Given the description of an element on the screen output the (x, y) to click on. 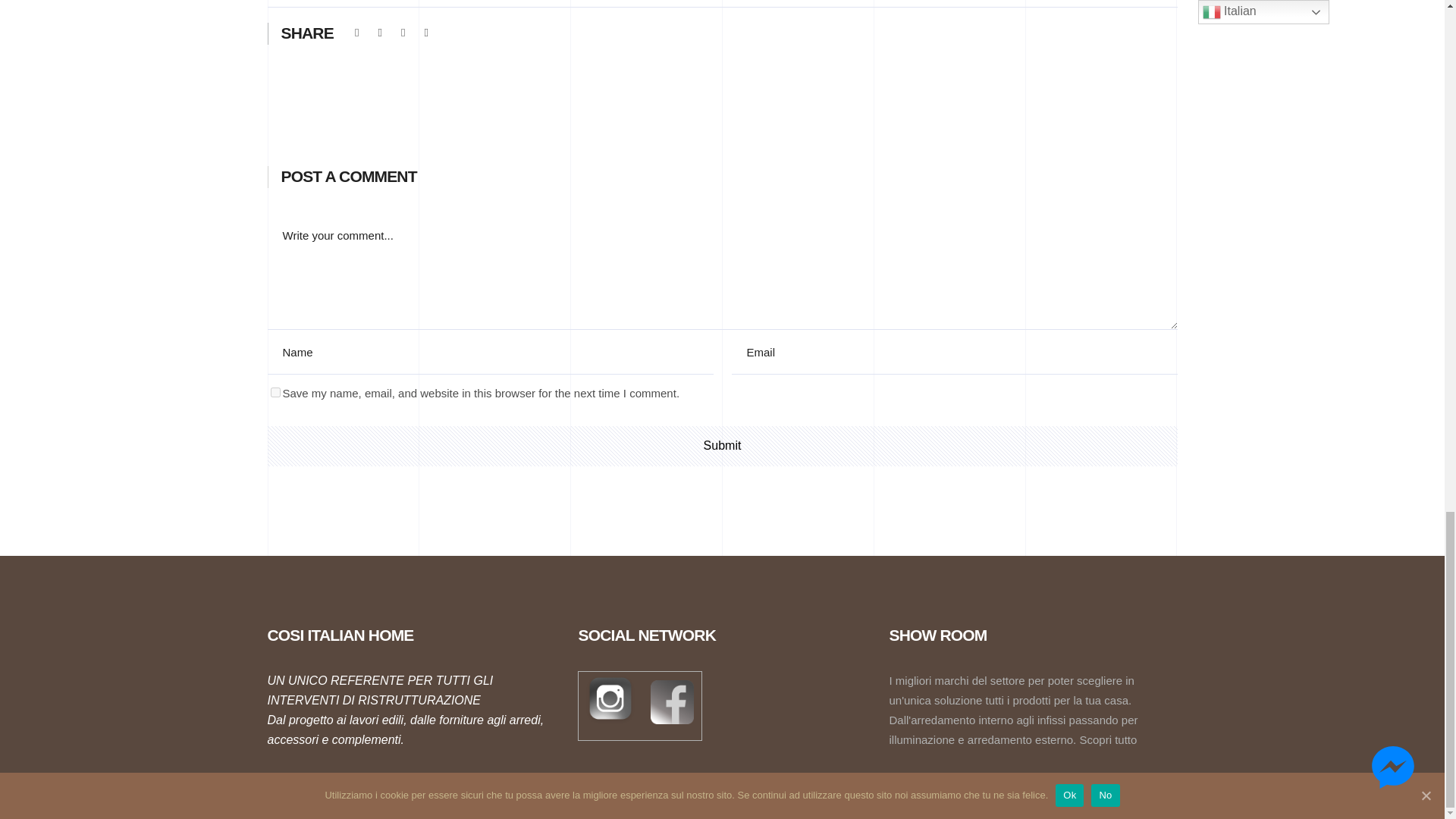
Submit (721, 445)
yes (274, 392)
